Given the description of an element on the screen output the (x, y) to click on. 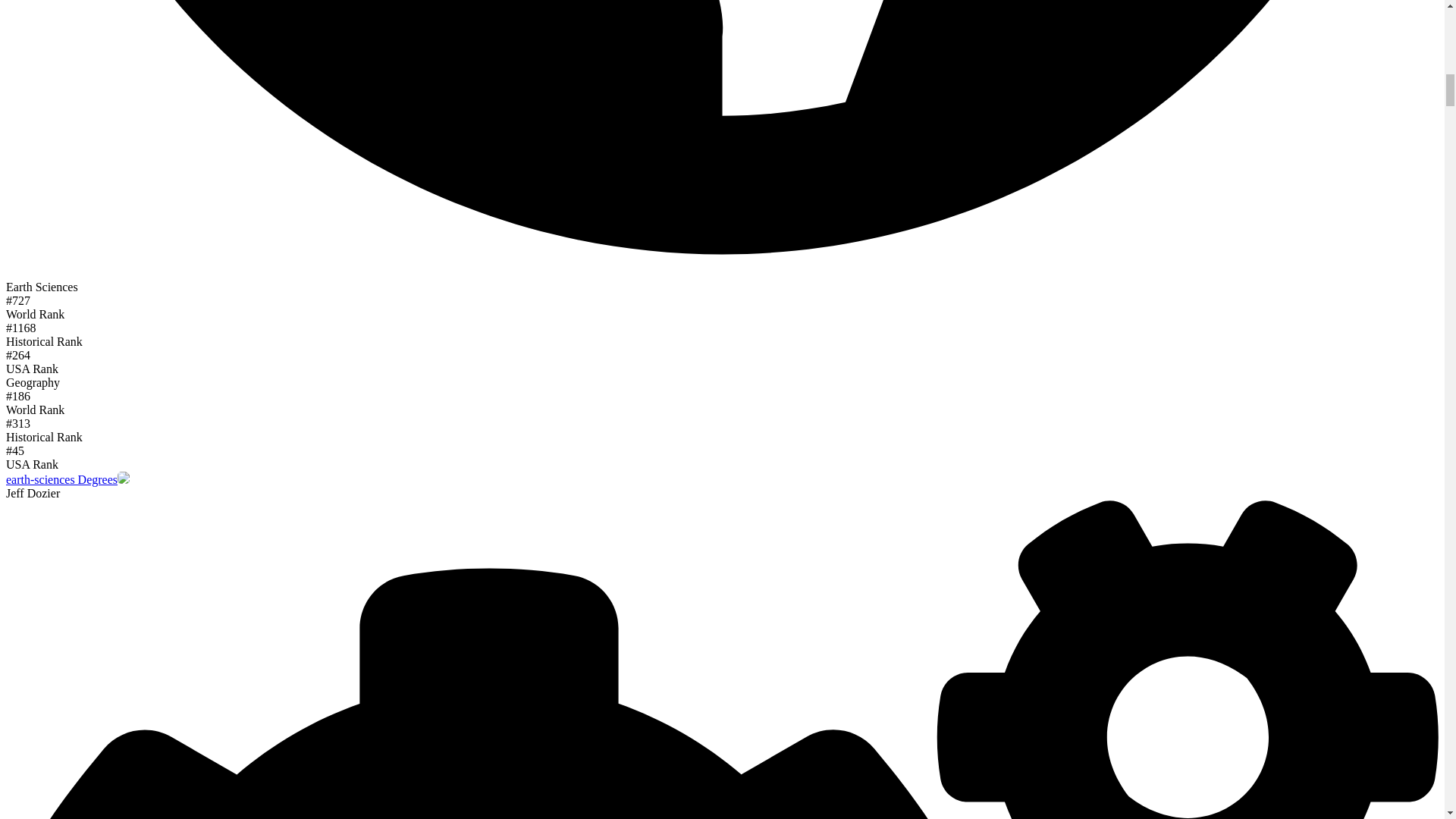
earth-sciences Degrees (61, 479)
